Given the description of an element on the screen output the (x, y) to click on. 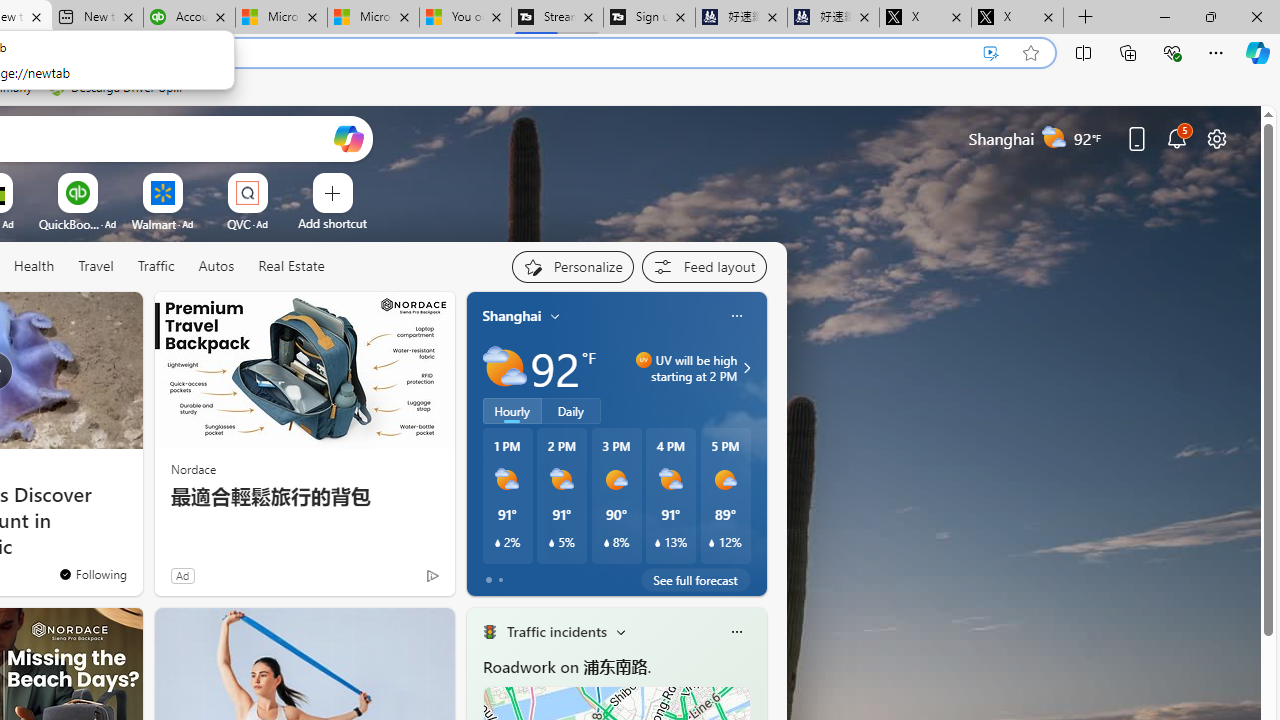
Class: weather-arrow-glyph (746, 367)
Partly sunny (504, 368)
tab-1 (500, 579)
Traffic (155, 267)
Feed settings (703, 266)
Autos (215, 265)
